Given the description of an element on the screen output the (x, y) to click on. 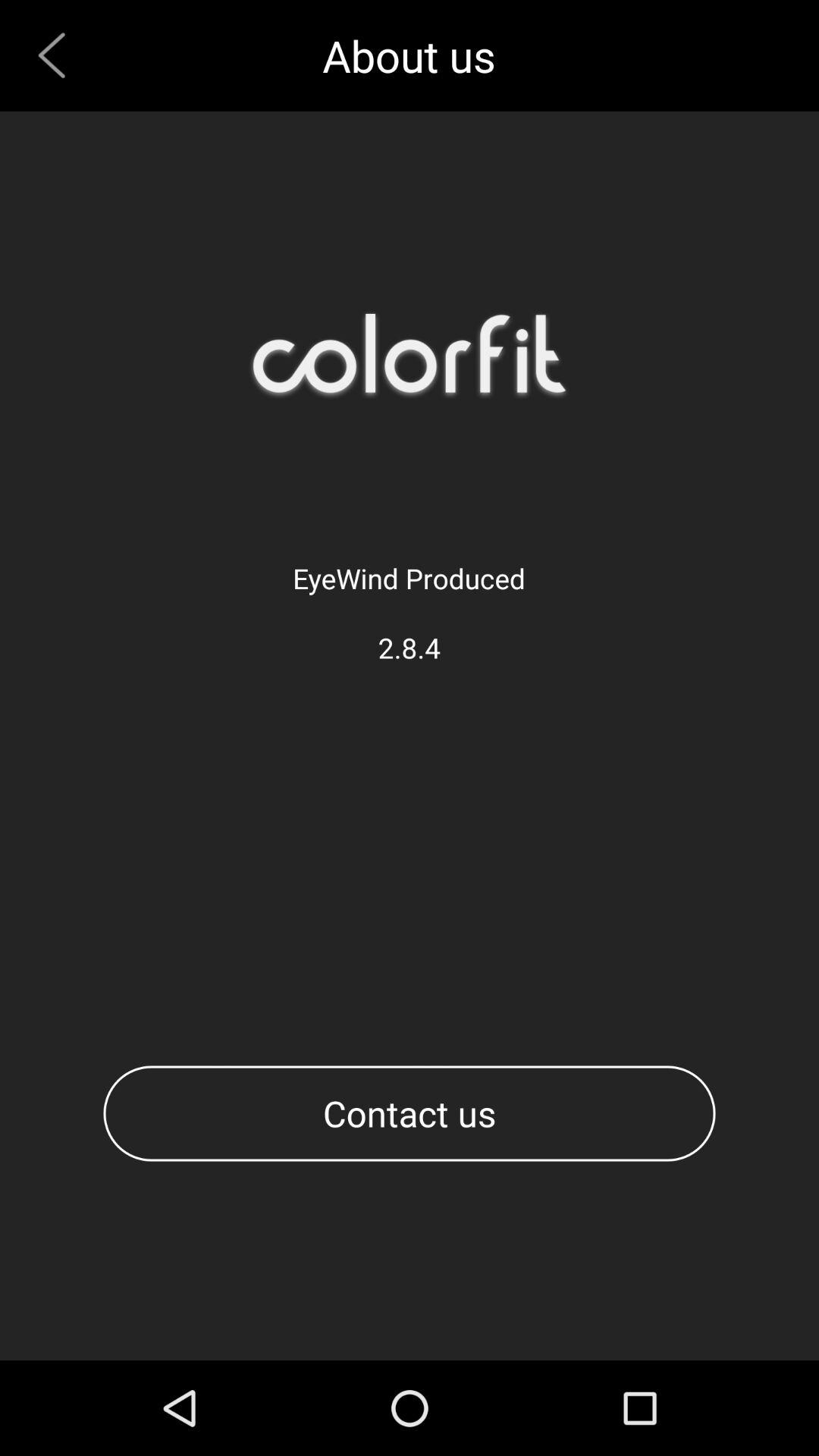
press the icon to the left of about us icon (57, 55)
